Given the description of an element on the screen output the (x, y) to click on. 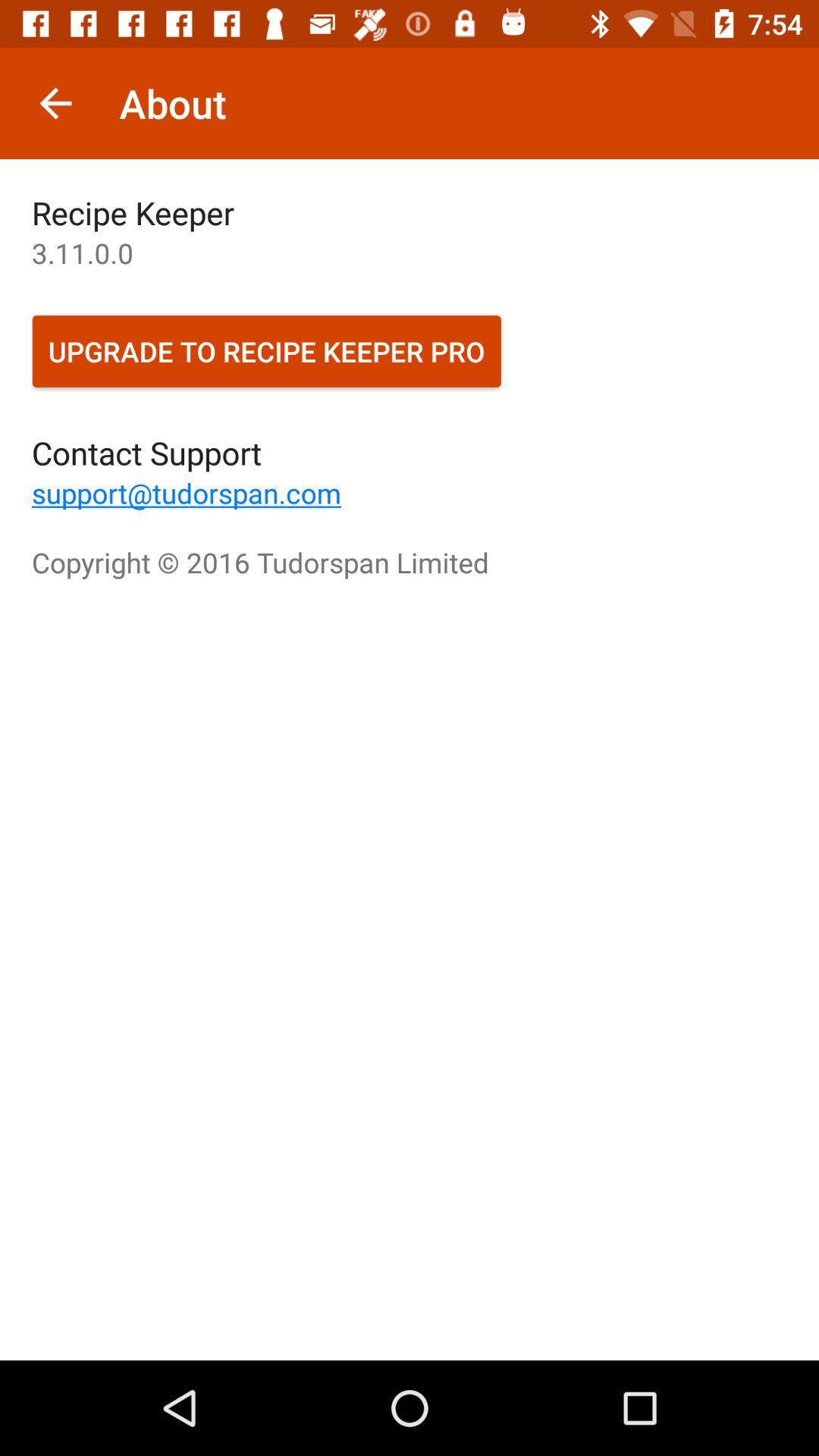
open icon above recipe keeper (55, 103)
